Given the description of an element on the screen output the (x, y) to click on. 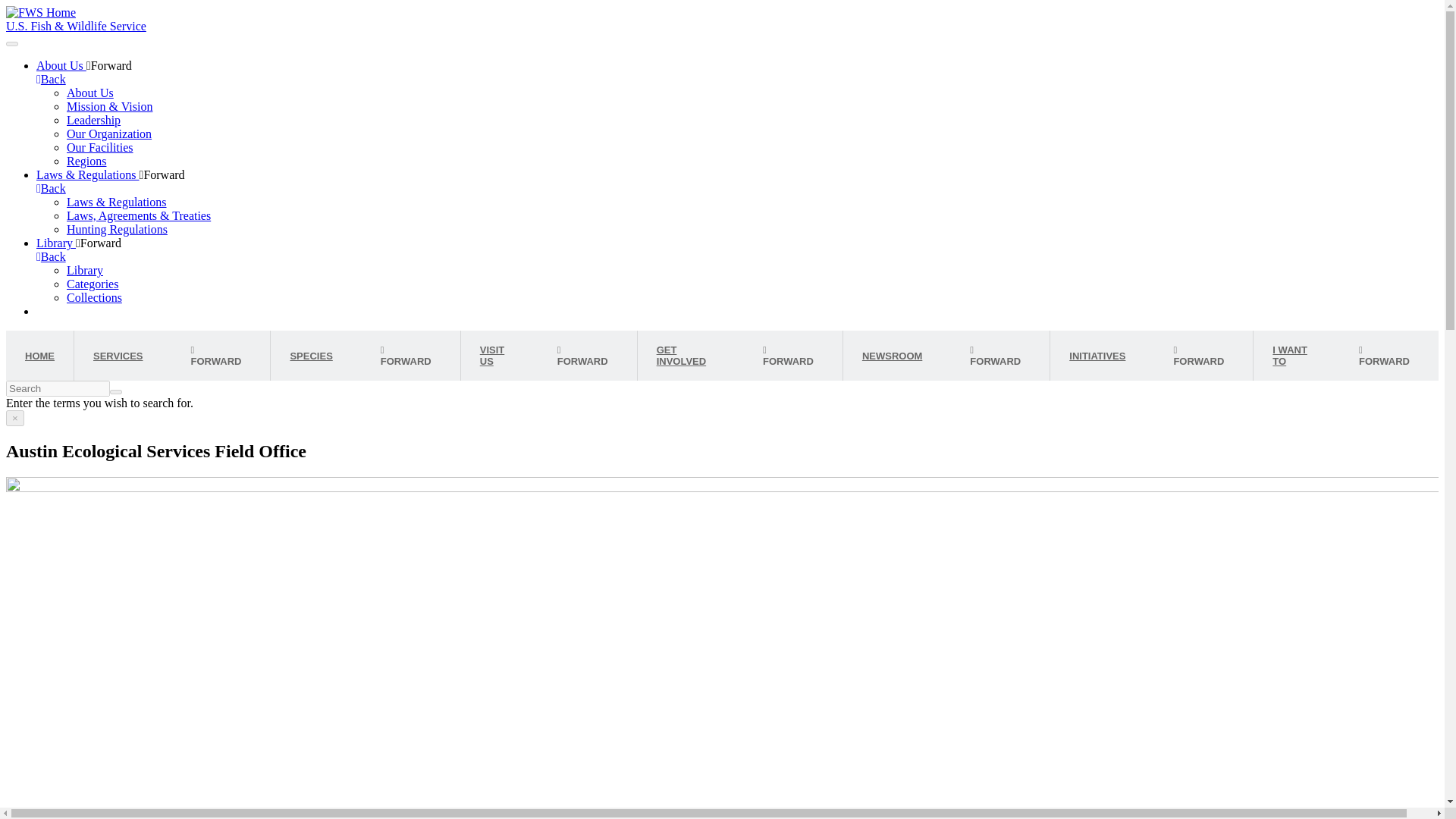
Access services provided by FWS (122, 355)
Back (50, 78)
Library (84, 269)
Our Organization (108, 133)
Collections (94, 297)
Categories (91, 283)
Toggle navigation (11, 43)
About Us (89, 92)
Library (55, 242)
About Us (60, 65)
FWS Home (40, 11)
Back (50, 256)
Leadership (93, 119)
Hunting Regulations (116, 228)
SERVICES (122, 355)
